Given the description of an element on the screen output the (x, y) to click on. 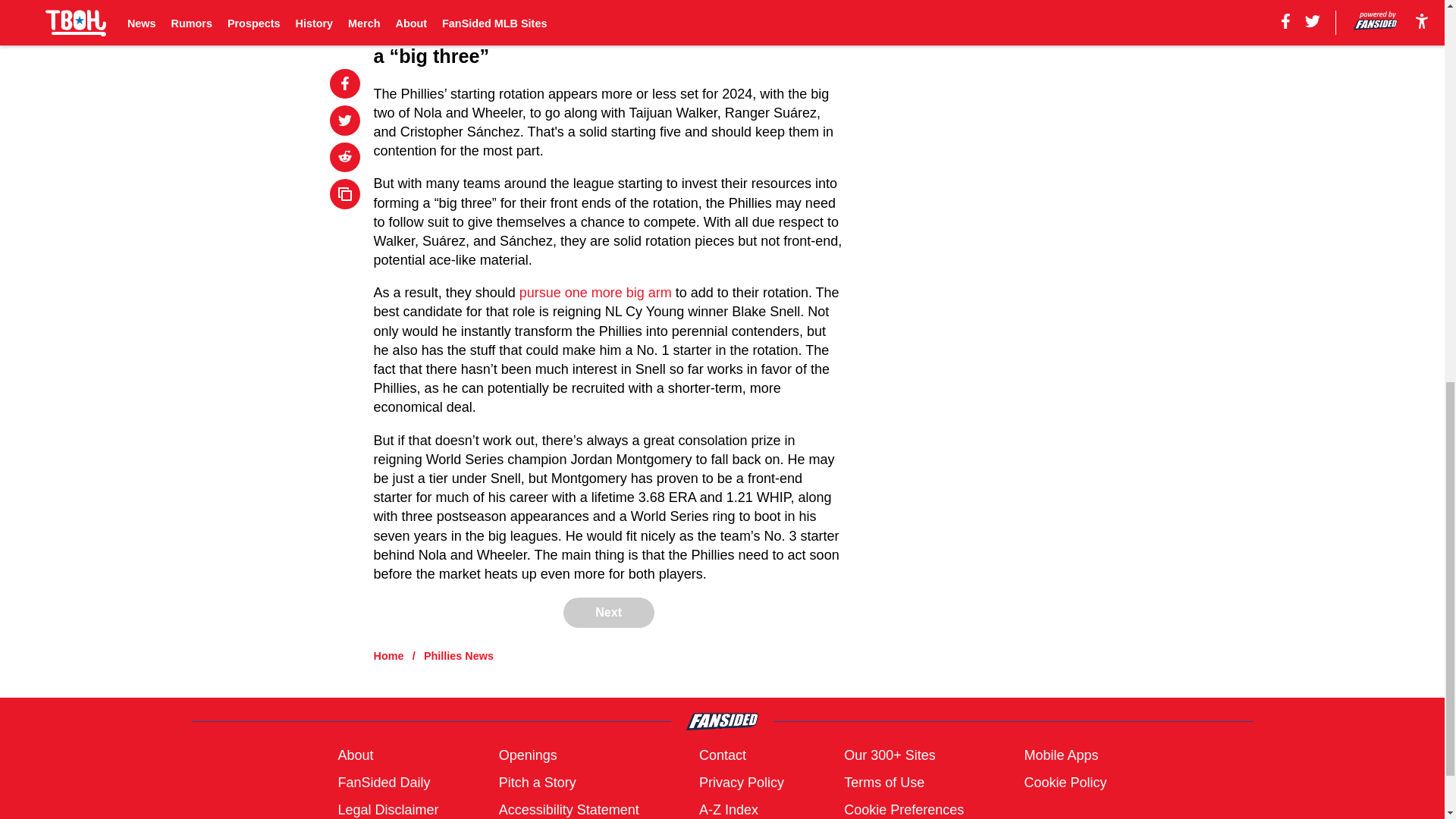
Next (798, 1)
Next (608, 612)
Home (389, 655)
Prev (419, 1)
pursue one more big arm (595, 292)
